Given the description of an element on the screen output the (x, y) to click on. 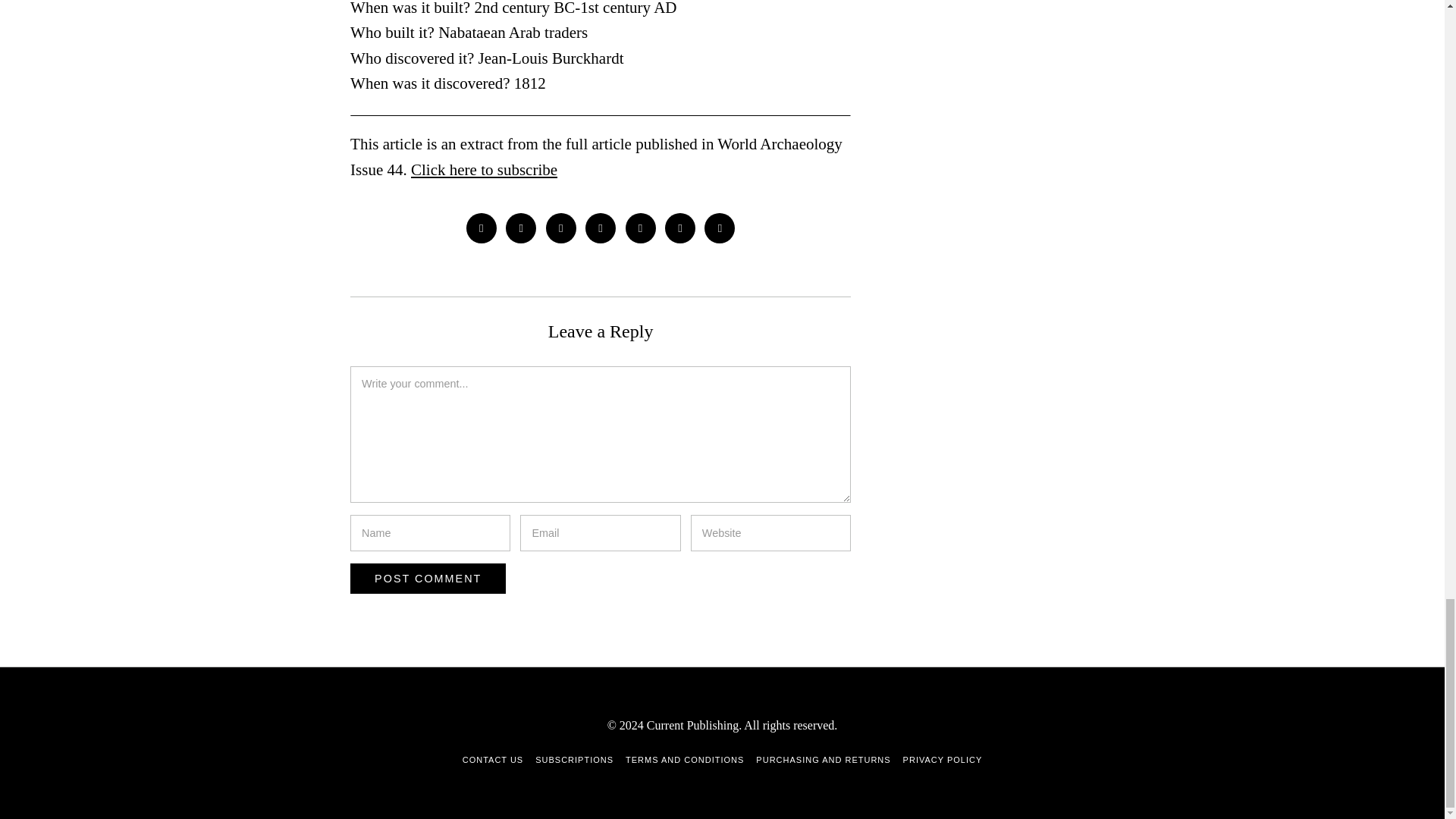
Post Comment (427, 578)
Twitter (520, 227)
Linkedin (600, 227)
Pinterest (561, 227)
Whatsapp (641, 227)
Facebook (480, 227)
Email (719, 227)
Reddit (680, 227)
